Given the description of an element on the screen output the (x, y) to click on. 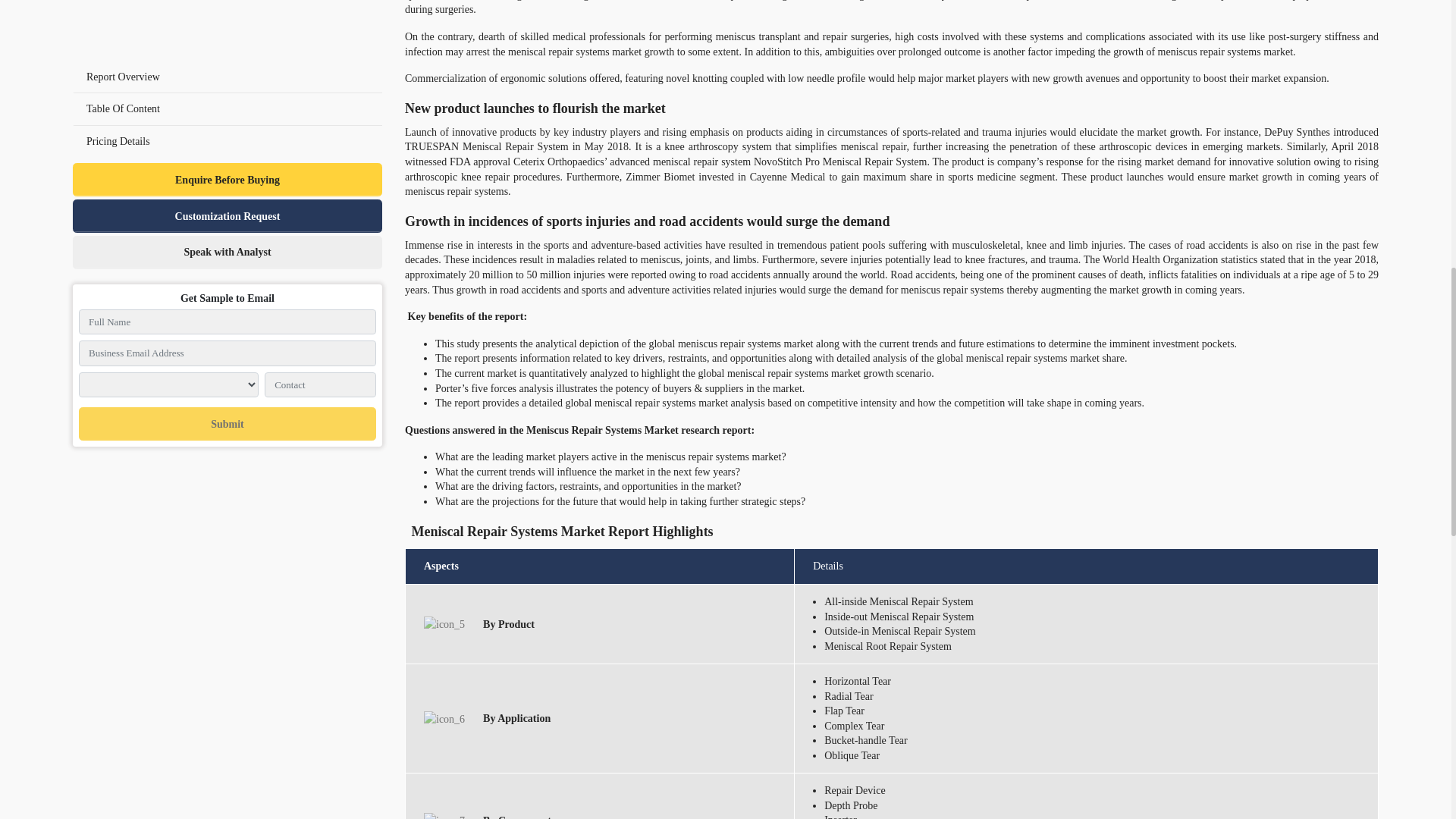
Submit (226, 5)
Meniscal Repair Systems Market By Components (443, 816)
Meniscal Repair Systems Market By Application (443, 719)
Meniscal Repair Systems Market By Product (443, 624)
